Given the description of an element on the screen output the (x, y) to click on. 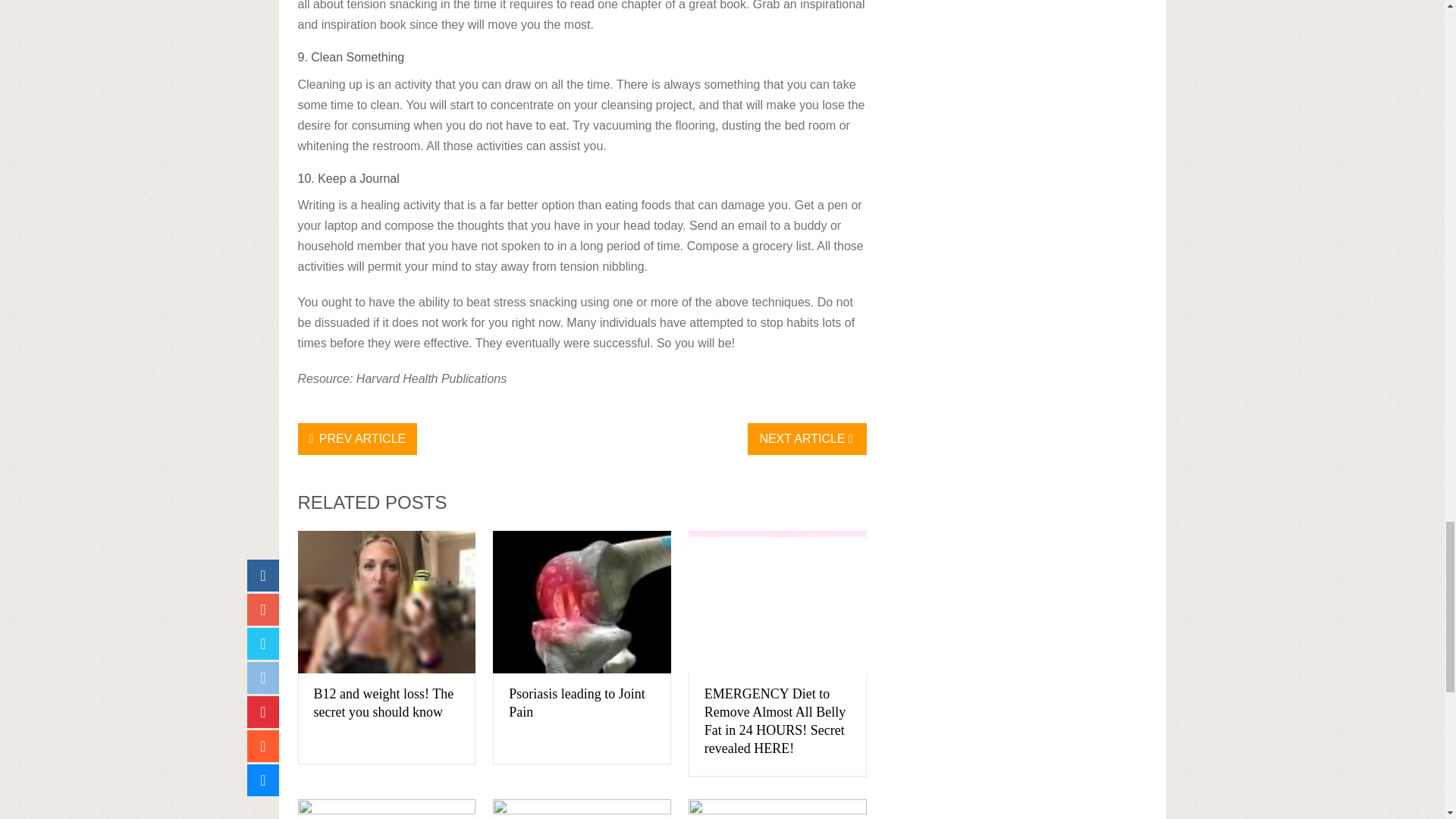
Psoriasis leading to Joint Pain (582, 602)
B12 and weight loss! The secret you should know (384, 702)
Psoriasis leading to Joint Pain (576, 702)
NEXT ARTICLE (807, 439)
B12 and weight loss! The secret you should know (384, 702)
Psoriasis leading to Joint Pain (576, 702)
B12 and weight loss! The secret you should know (386, 602)
3 ways to Get Rid of Inner Thigh Rash! (582, 809)
